Given the description of an element on the screen output the (x, y) to click on. 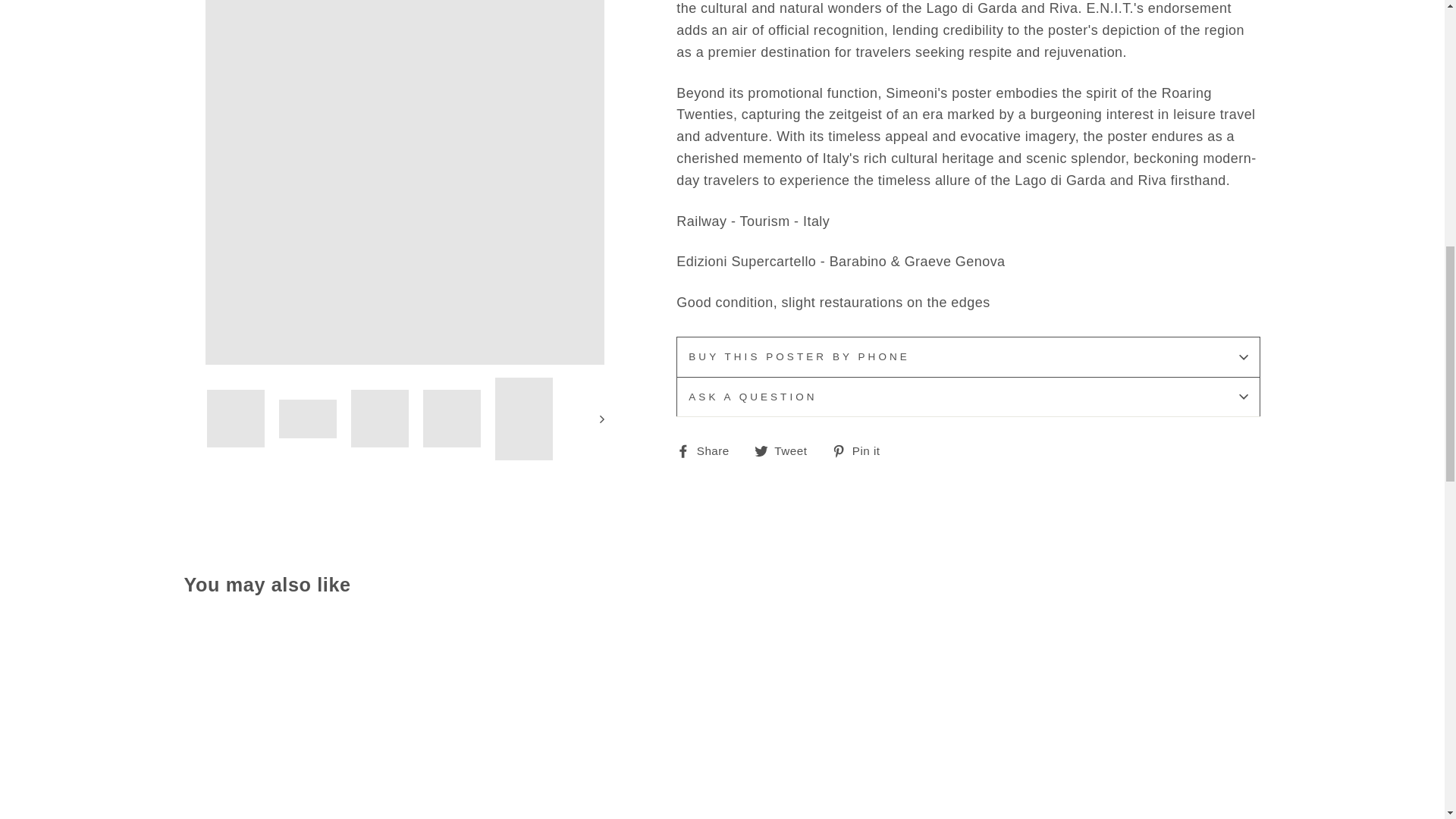
Share on Facebook (709, 450)
Pin on Pinterest (861, 450)
Tweet on Twitter (786, 450)
